Given the description of an element on the screen output the (x, y) to click on. 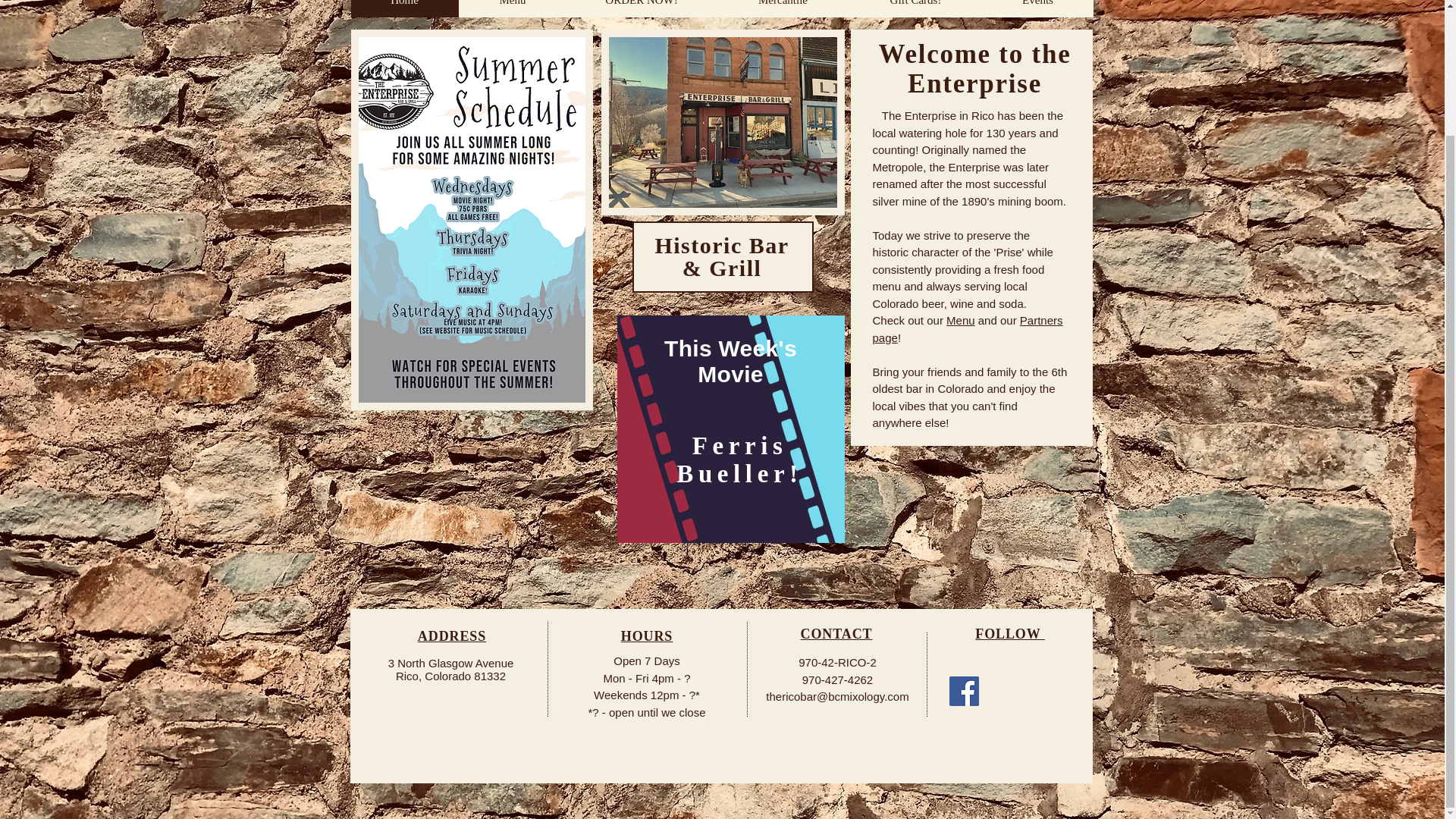
CONTACT (836, 633)
WebBackgroundMovie.png (730, 428)
Partners page (967, 328)
Events (1037, 8)
Gift Cards! (914, 8)
Menu (960, 319)
Home (404, 8)
Mercantile (782, 8)
ORDER NOW! (641, 8)
Menu (512, 8)
